Given the description of an element on the screen output the (x, y) to click on. 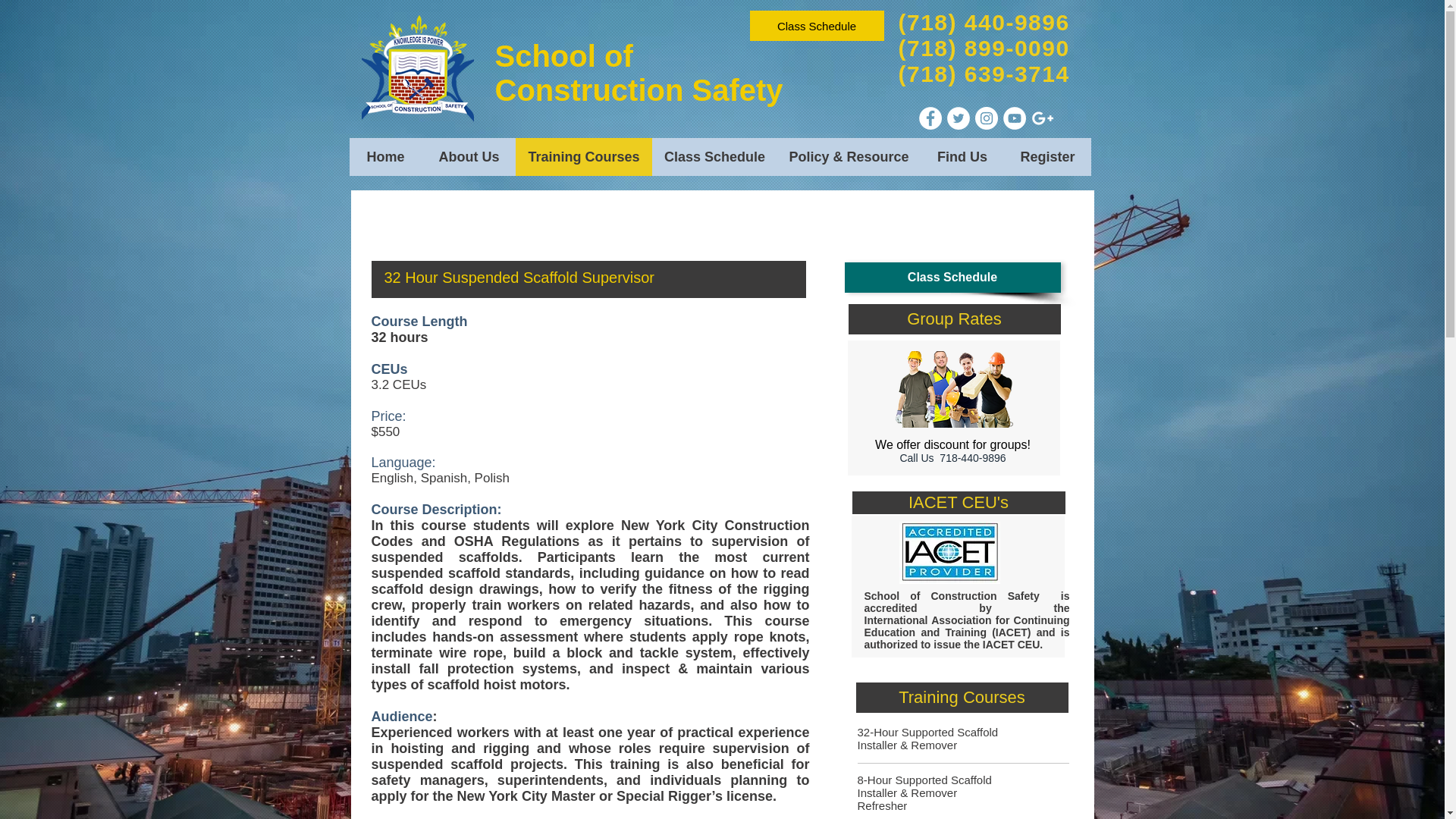
Training Courses (961, 697)
Training Courses (583, 157)
Register (1047, 157)
Home (385, 157)
About Us (468, 157)
Find Us (962, 157)
Class Schedule (816, 25)
Class Schedule (714, 157)
Class Schedule (952, 277)
